Given the description of an element on the screen output the (x, y) to click on. 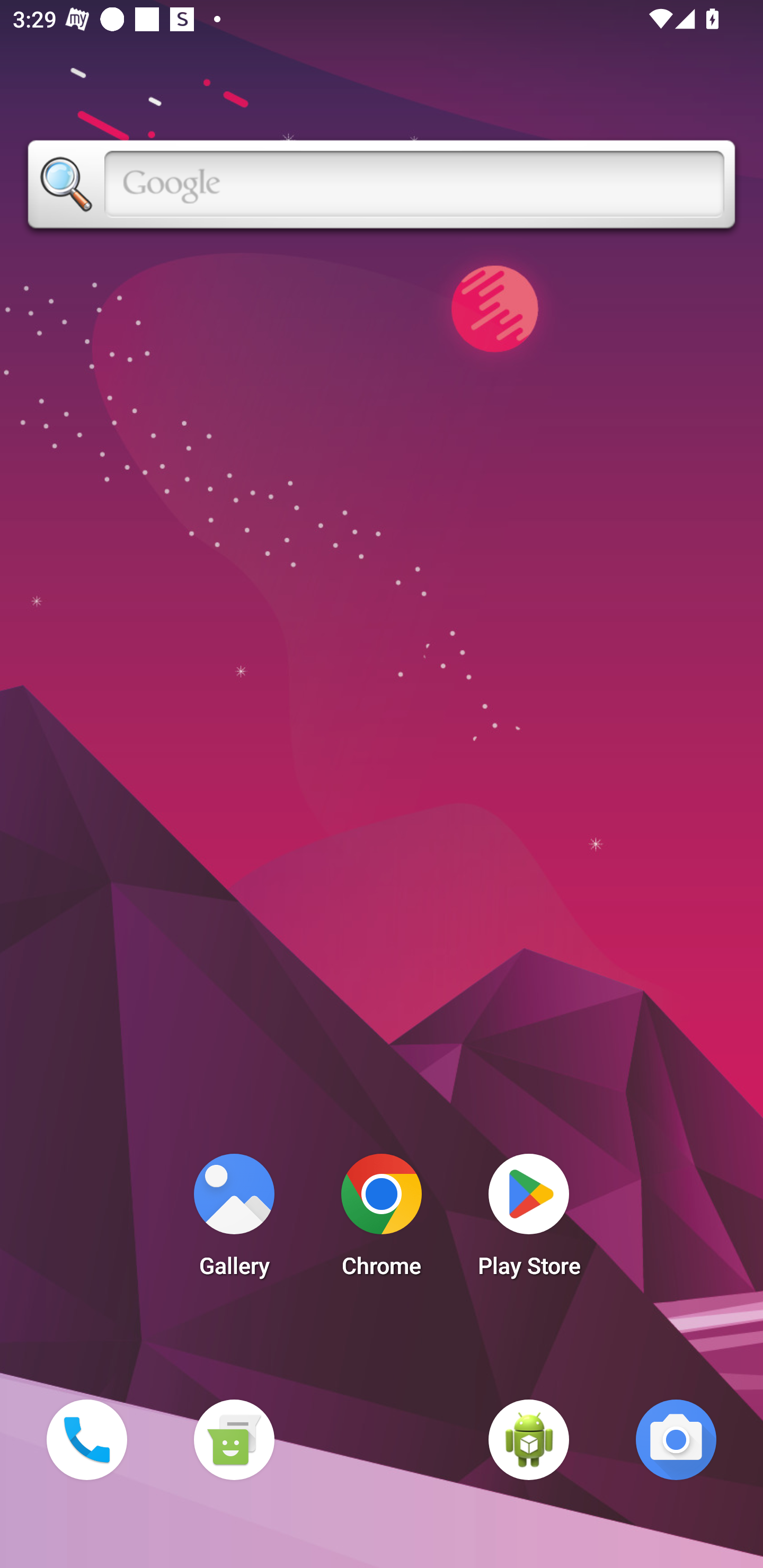
Gallery (233, 1220)
Chrome (381, 1220)
Play Store (528, 1220)
Phone (86, 1439)
Messaging (233, 1439)
WebView Browser Tester (528, 1439)
Camera (676, 1439)
